Given the description of an element on the screen output the (x, y) to click on. 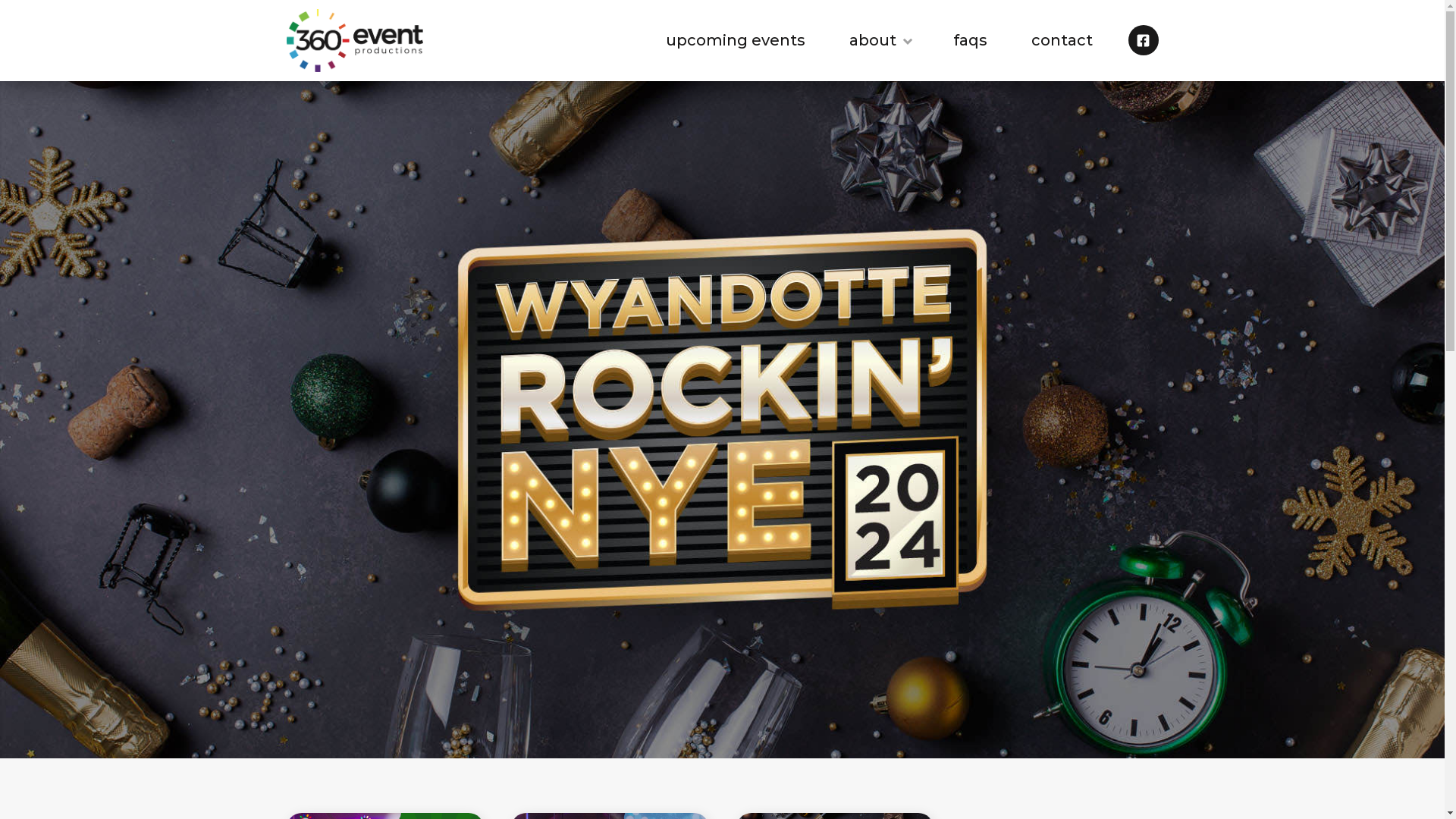
Go to Homepage Element type: text (354, 38)
contact Element type: text (1061, 40)
upcoming events Element type: text (735, 40)
faqs Element type: text (970, 40)
Visit our Facebook page Element type: text (1143, 40)
about Element type: text (879, 39)
